Given the description of an element on the screen output the (x, y) to click on. 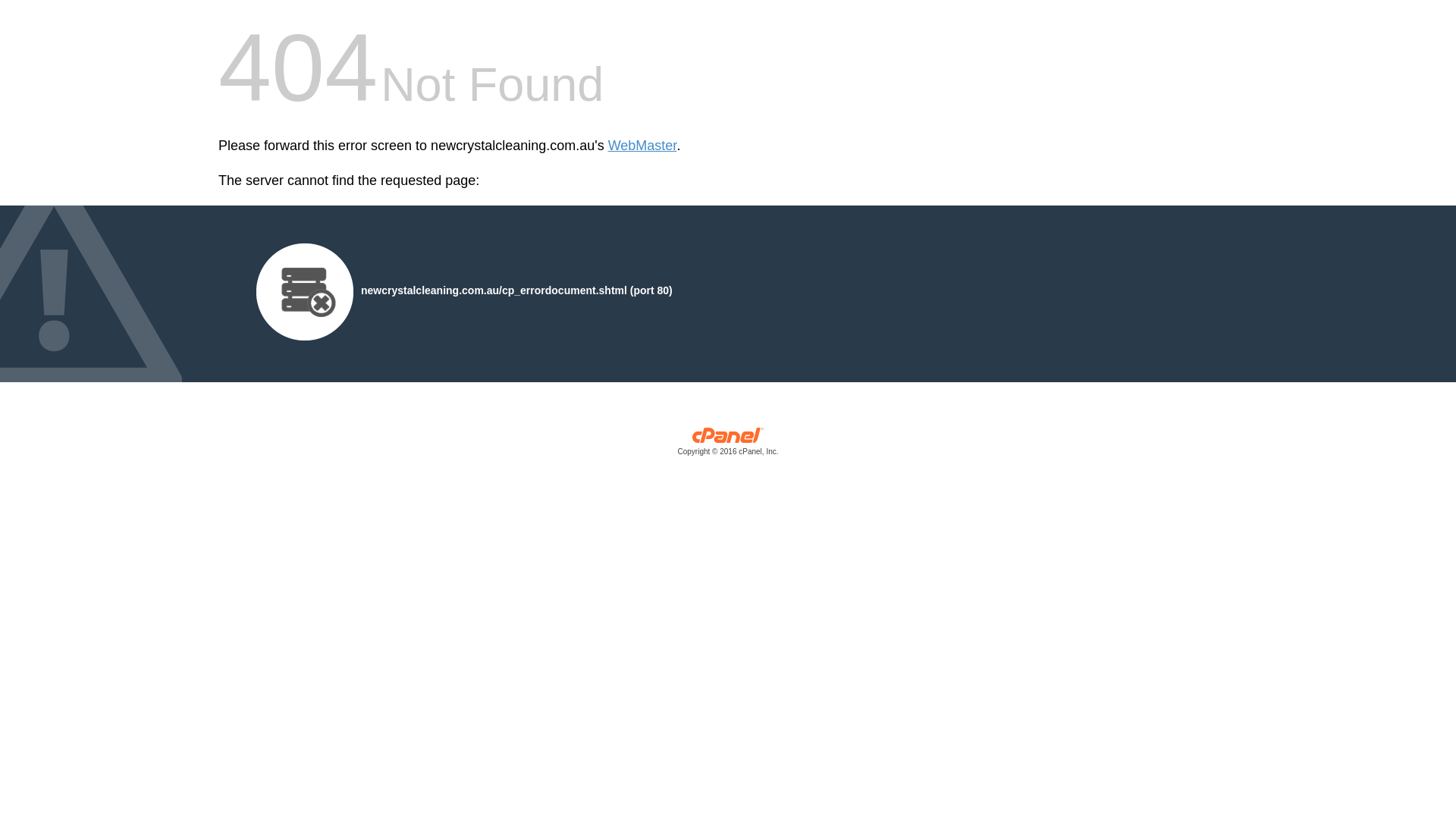
WebMaster Element type: text (642, 145)
